Given the description of an element on the screen output the (x, y) to click on. 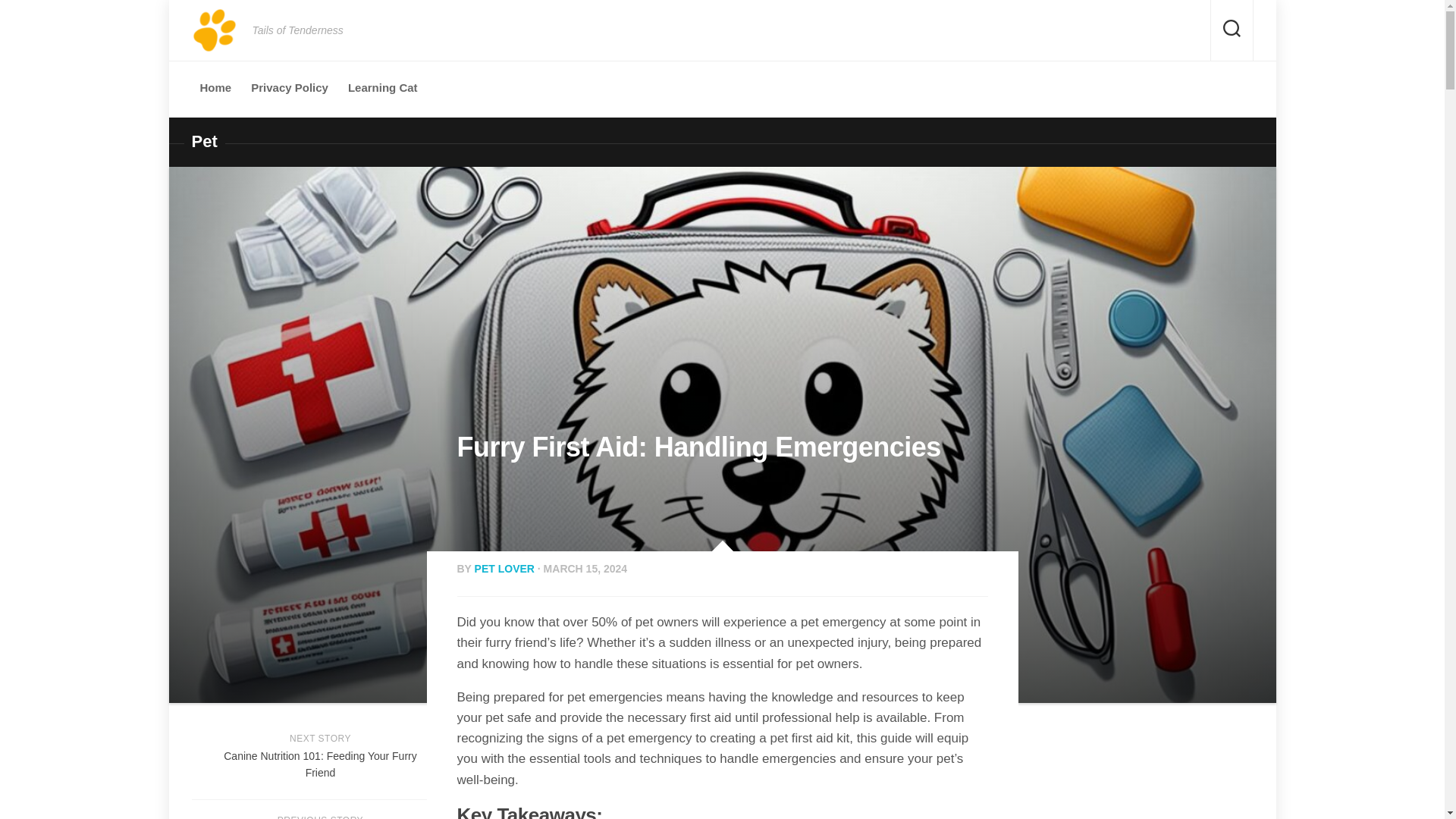
Pet (319, 809)
Learning Cat (319, 759)
Home (203, 140)
PET LOVER (382, 87)
Privacy Policy (215, 87)
Posts by Pet Lover (504, 568)
